Given the description of an element on the screen output the (x, y) to click on. 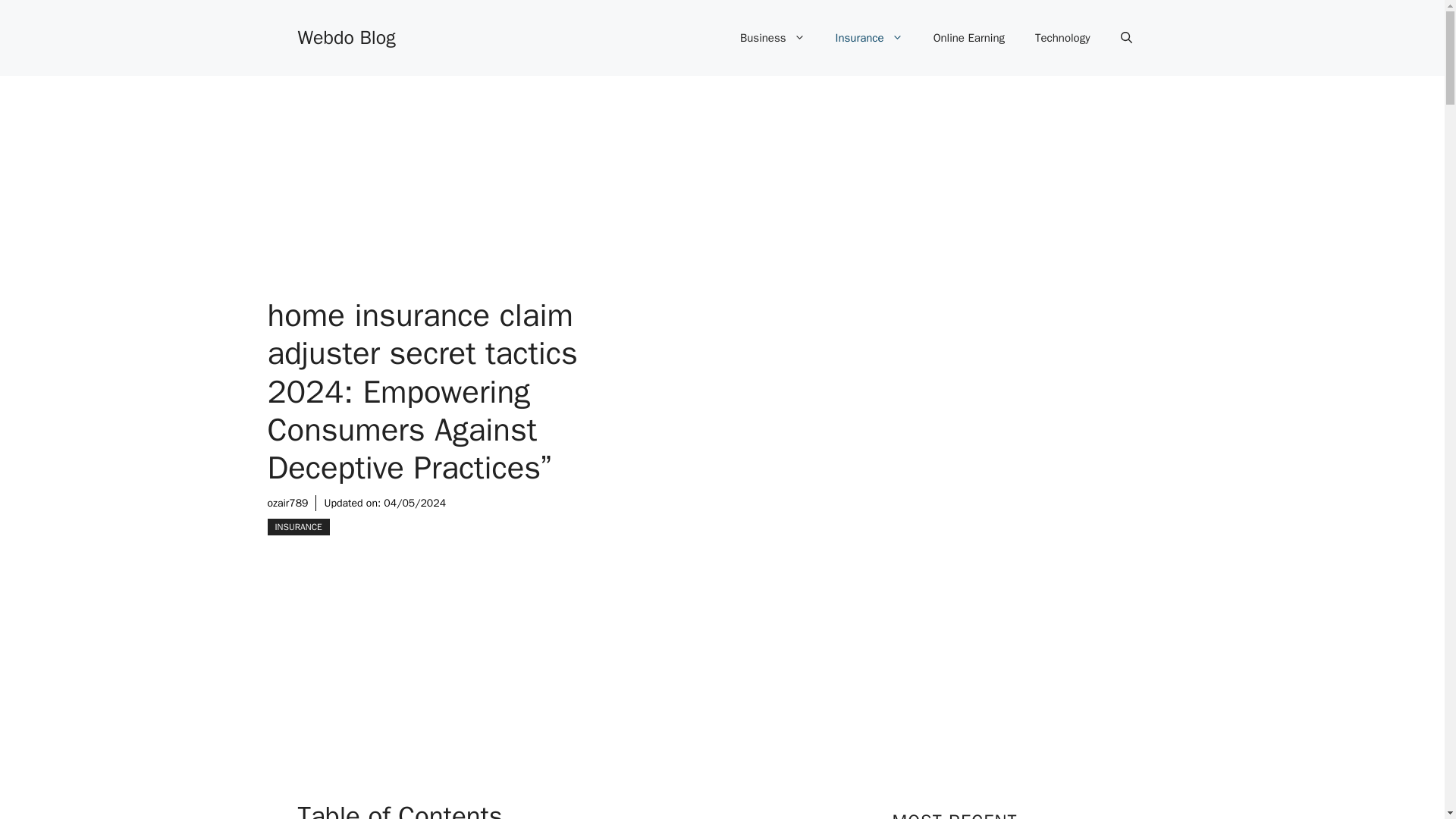
Webdo Blog (345, 37)
INSURANCE (297, 526)
Business (773, 37)
ozair789 (286, 502)
Technology (1062, 37)
Insurance (869, 37)
Online Earning (969, 37)
